Given the description of an element on the screen output the (x, y) to click on. 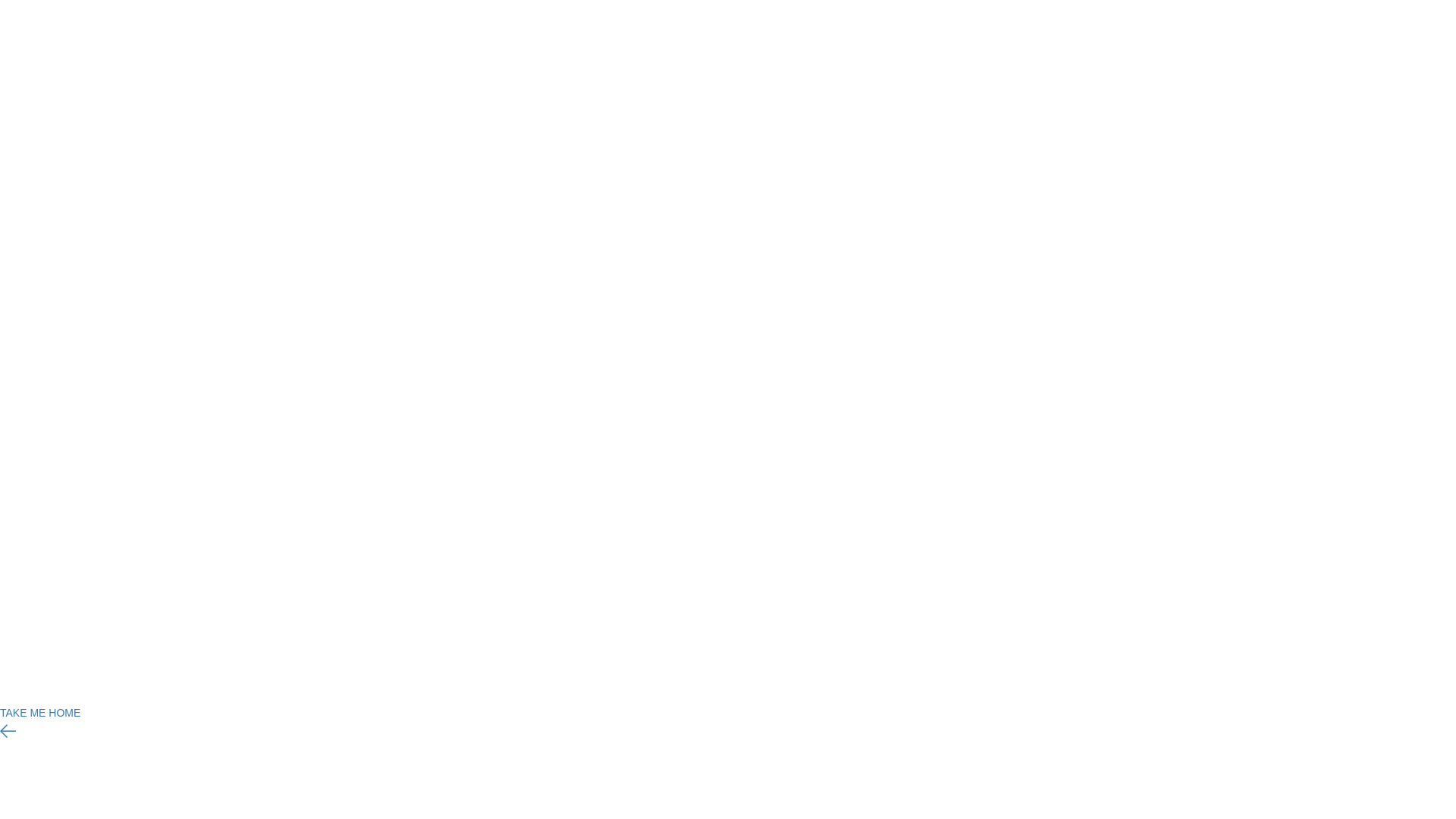
TAKE ME HOME Element type: text (40, 712)
